Given the description of an element on the screen output the (x, y) to click on. 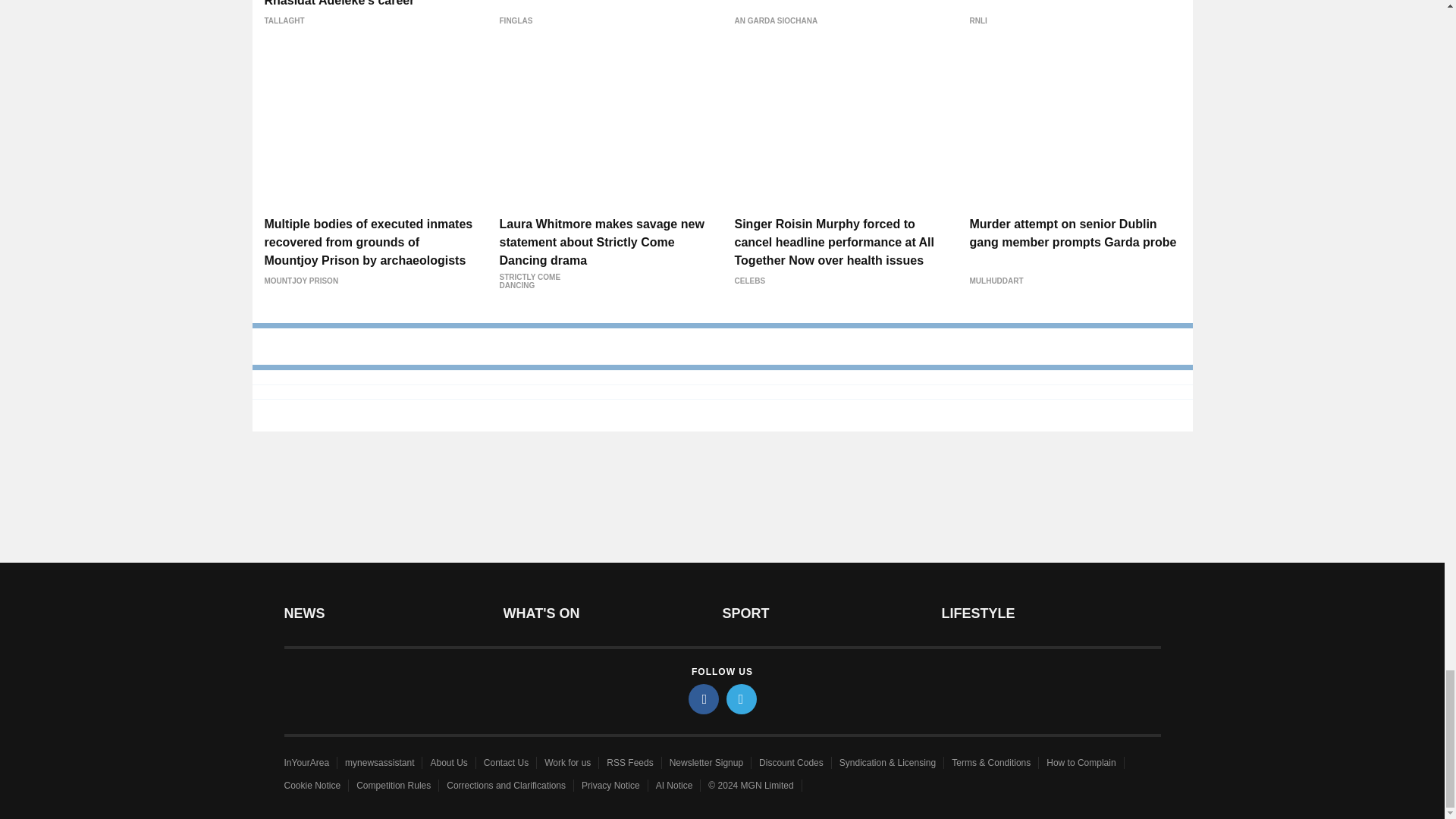
facebook (703, 698)
twitter (741, 698)
